Given the description of an element on the screen output the (x, y) to click on. 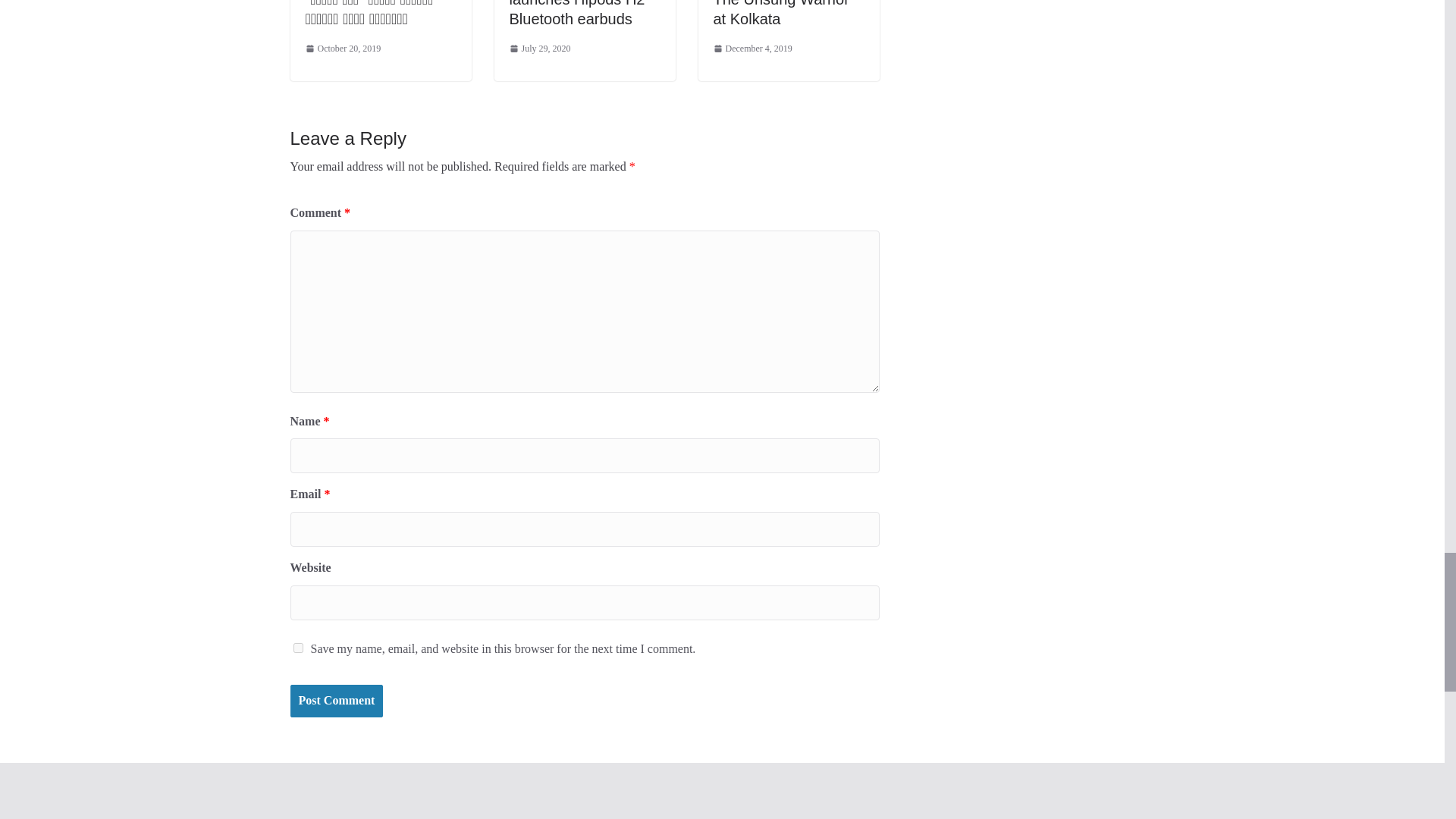
July 29, 2020 (539, 48)
October 20, 2019 (342, 48)
yes (297, 647)
Post Comment (335, 700)
December 4, 2019 (752, 48)
